Given the description of an element on the screen output the (x, y) to click on. 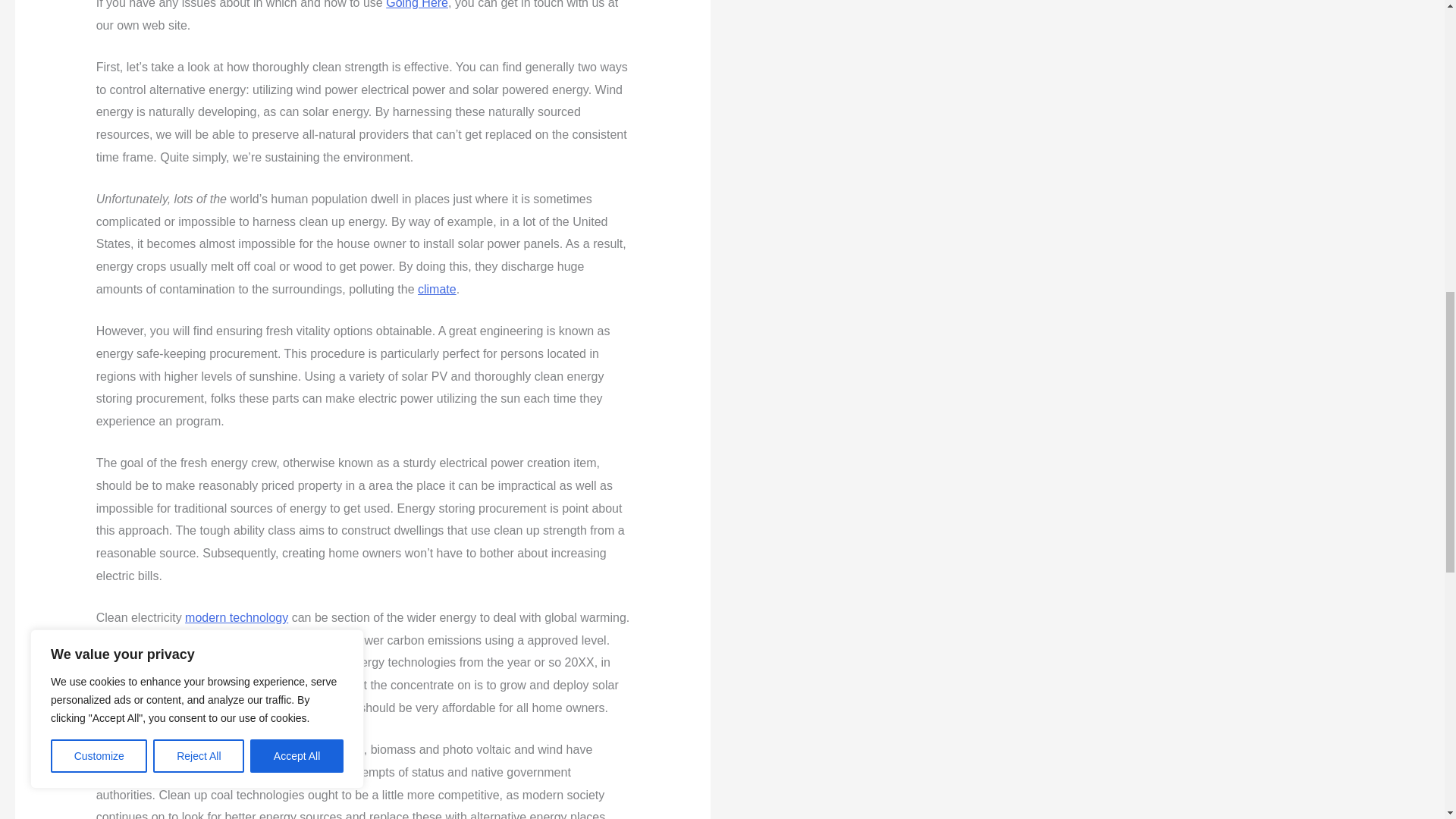
Going Here (416, 4)
climate (437, 288)
modern technology (236, 617)
